Given the description of an element on the screen output the (x, y) to click on. 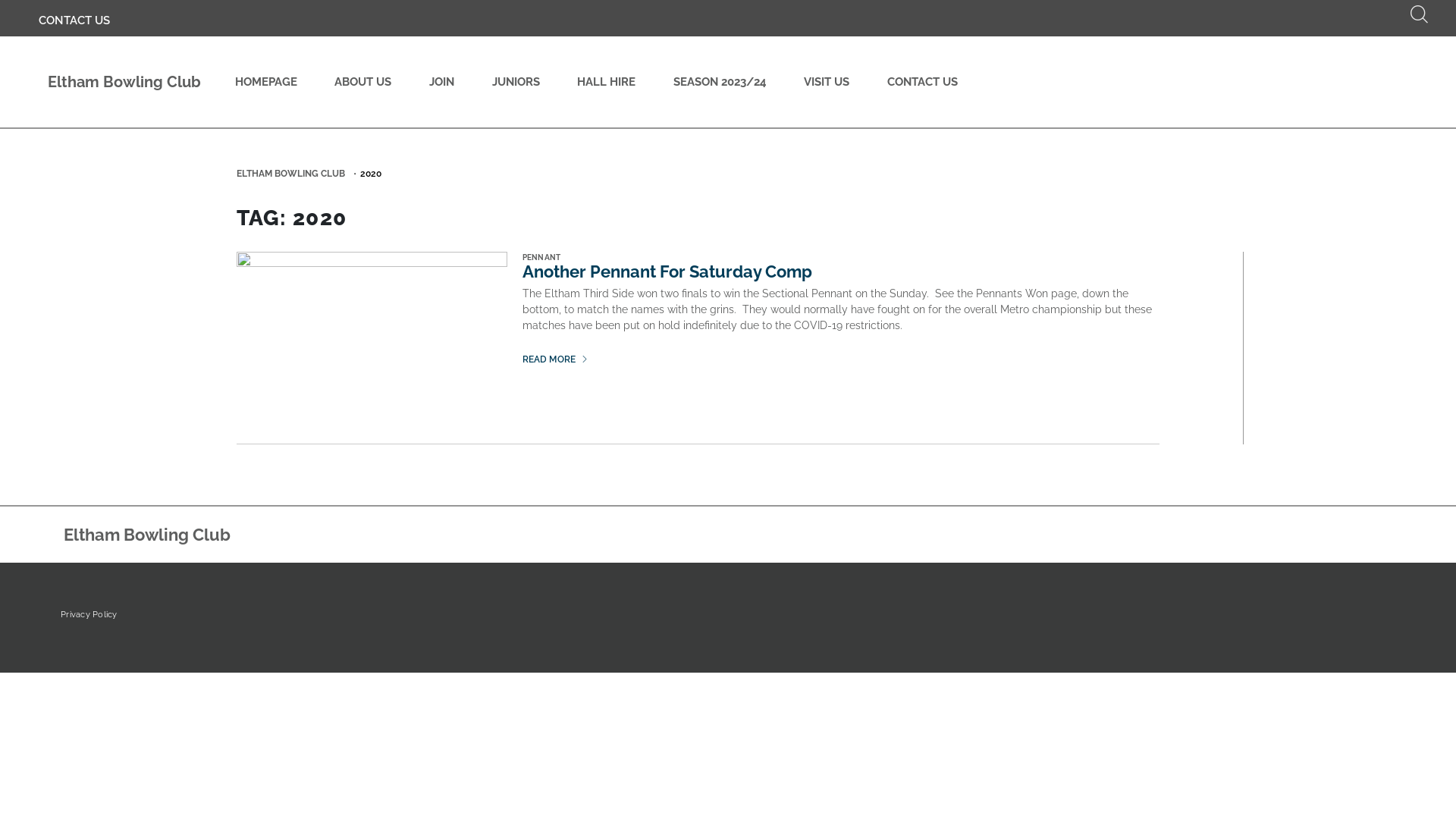
JUNIORS Element type: text (515, 81)
JOIN Element type: text (441, 81)
Another Pennant For Saturday Comp Element type: text (667, 271)
ELTHAM BOWLING CLUB Element type: text (290, 173)
Eltham Bowling Club Element type: text (143, 534)
Privacy Policy Element type: text (94, 614)
READ MORE Element type: text (555, 359)
CONTACT US Element type: text (74, 20)
VISIT US Element type: text (826, 81)
HOMEPAGE Element type: text (266, 81)
CONTACT US Element type: text (922, 81)
HALL HIRE Element type: text (606, 81)
ABOUT US Element type: text (363, 81)
Eltham Bowling Club Element type: text (119, 81)
SEASON 2023/24 Element type: text (719, 81)
